Given the description of an element on the screen output the (x, y) to click on. 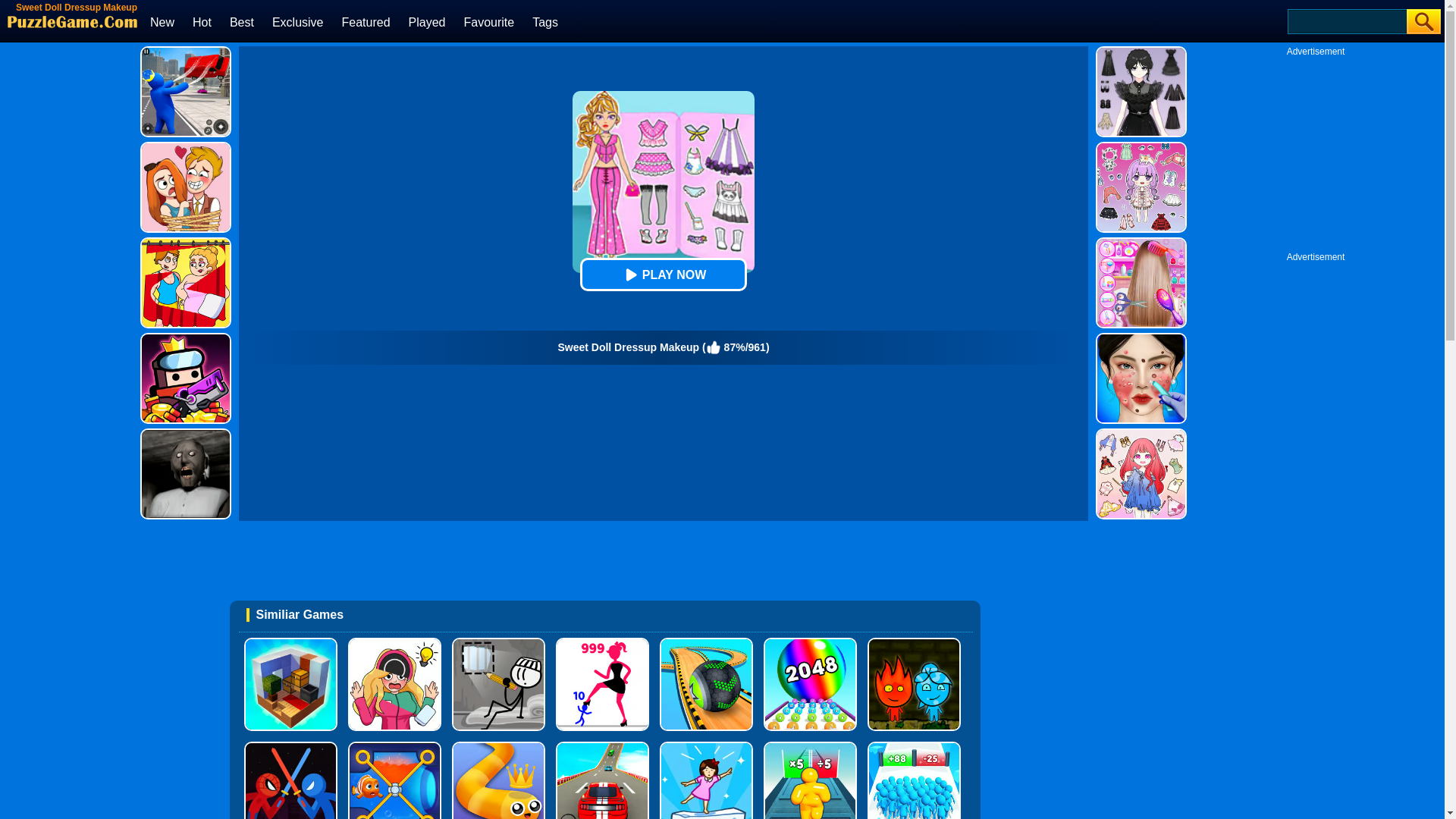
Featured (366, 21)
Favourite (488, 21)
Advertisement (1315, 490)
Tags (544, 21)
Best (241, 21)
Exclusive (297, 21)
Hot (201, 21)
New (161, 21)
Advertisement (1315, 152)
Advertisement (603, 562)
Played (427, 21)
Advertisement (68, 273)
PLAY NOW (662, 274)
